Given the description of an element on the screen output the (x, y) to click on. 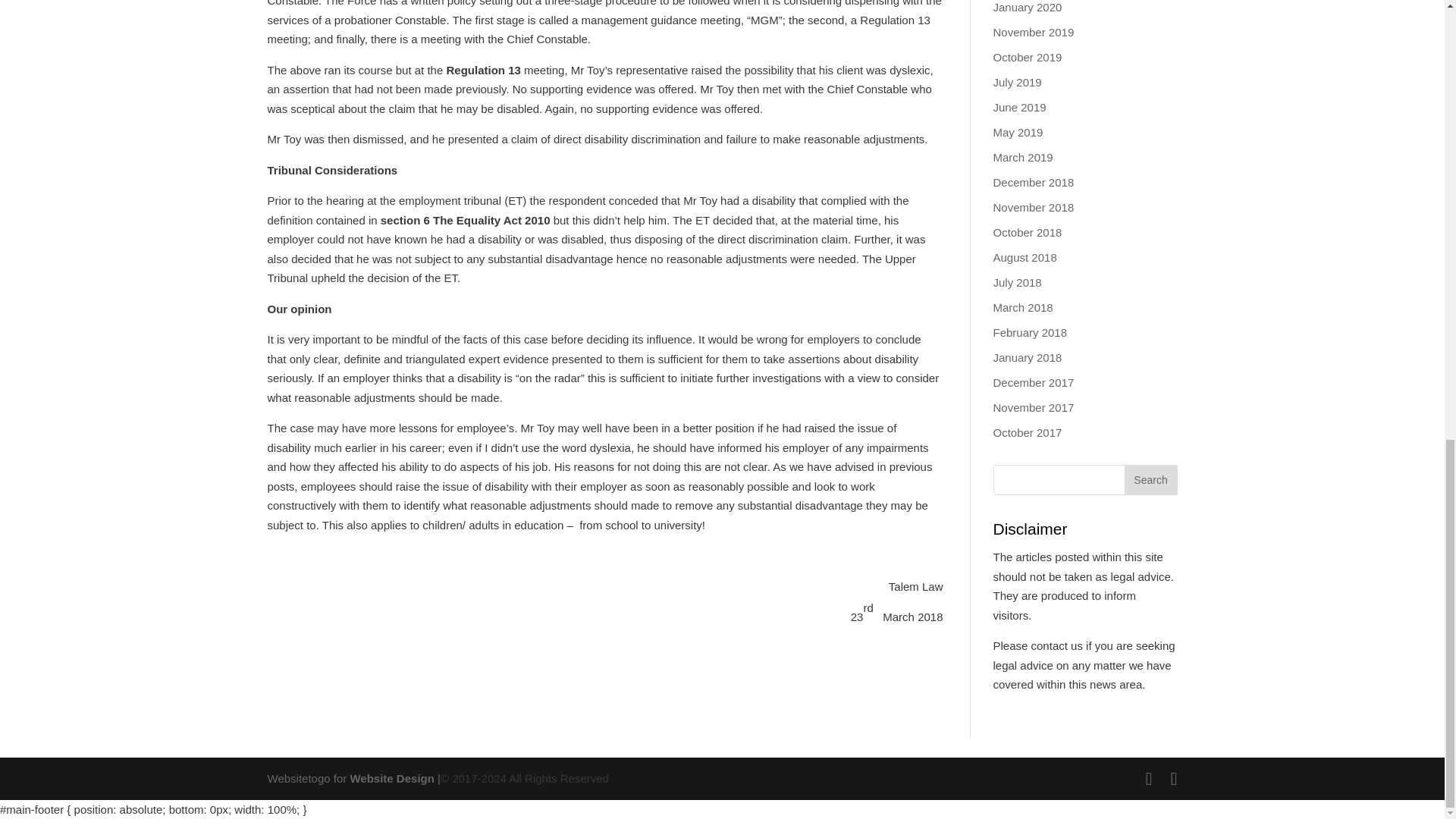
Search (1150, 480)
Websitetogo (391, 778)
